Given the description of an element on the screen output the (x, y) to click on. 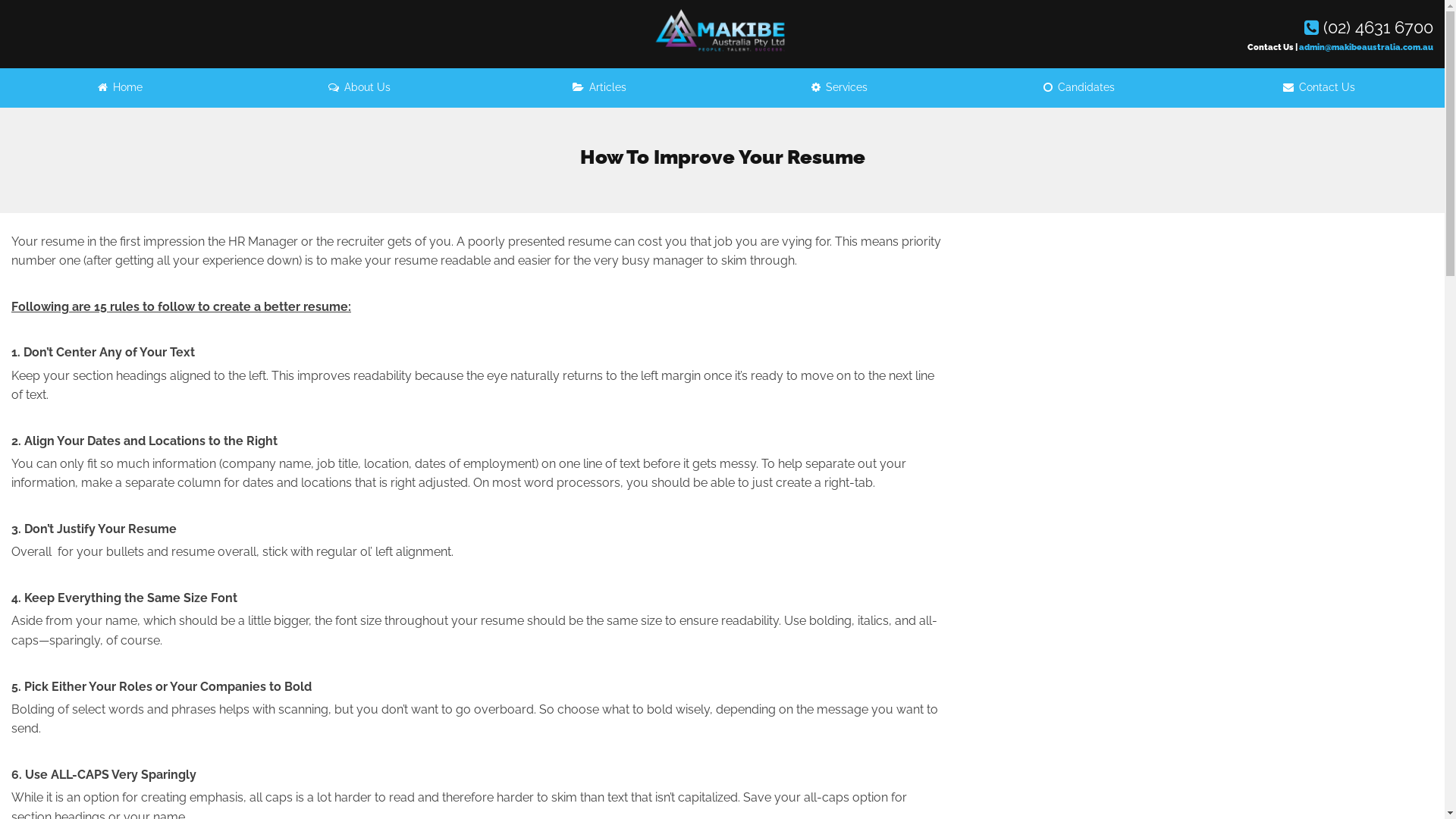
admin@makibeaustralia.com.au Element type: text (1366, 47)
Services Element type: text (839, 87)
Home Element type: text (119, 87)
About Us Element type: text (359, 87)
Articles Element type: text (598, 87)
Contact Us Element type: text (1318, 87)
Candidates Element type: text (1078, 87)
